Given the description of an element on the screen output the (x, y) to click on. 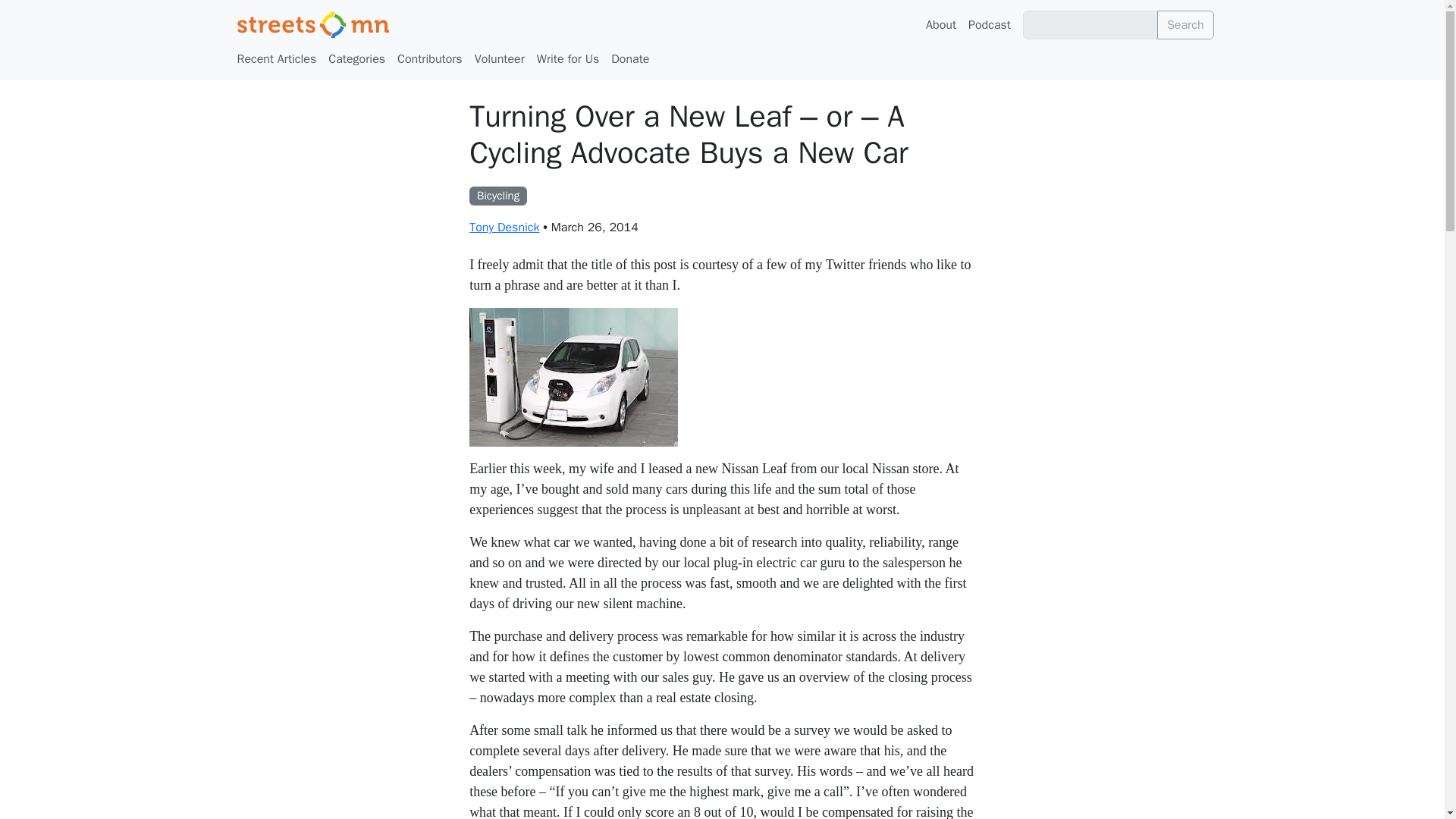
Search (1185, 24)
Tony Desnick (503, 227)
Write for Us (568, 59)
Donate (630, 59)
Volunteer (499, 59)
Podcast (989, 24)
Search (1185, 24)
About (941, 24)
Search (1185, 24)
Posts by Tony Desnick (503, 227)
